Given the description of an element on the screen output the (x, y) to click on. 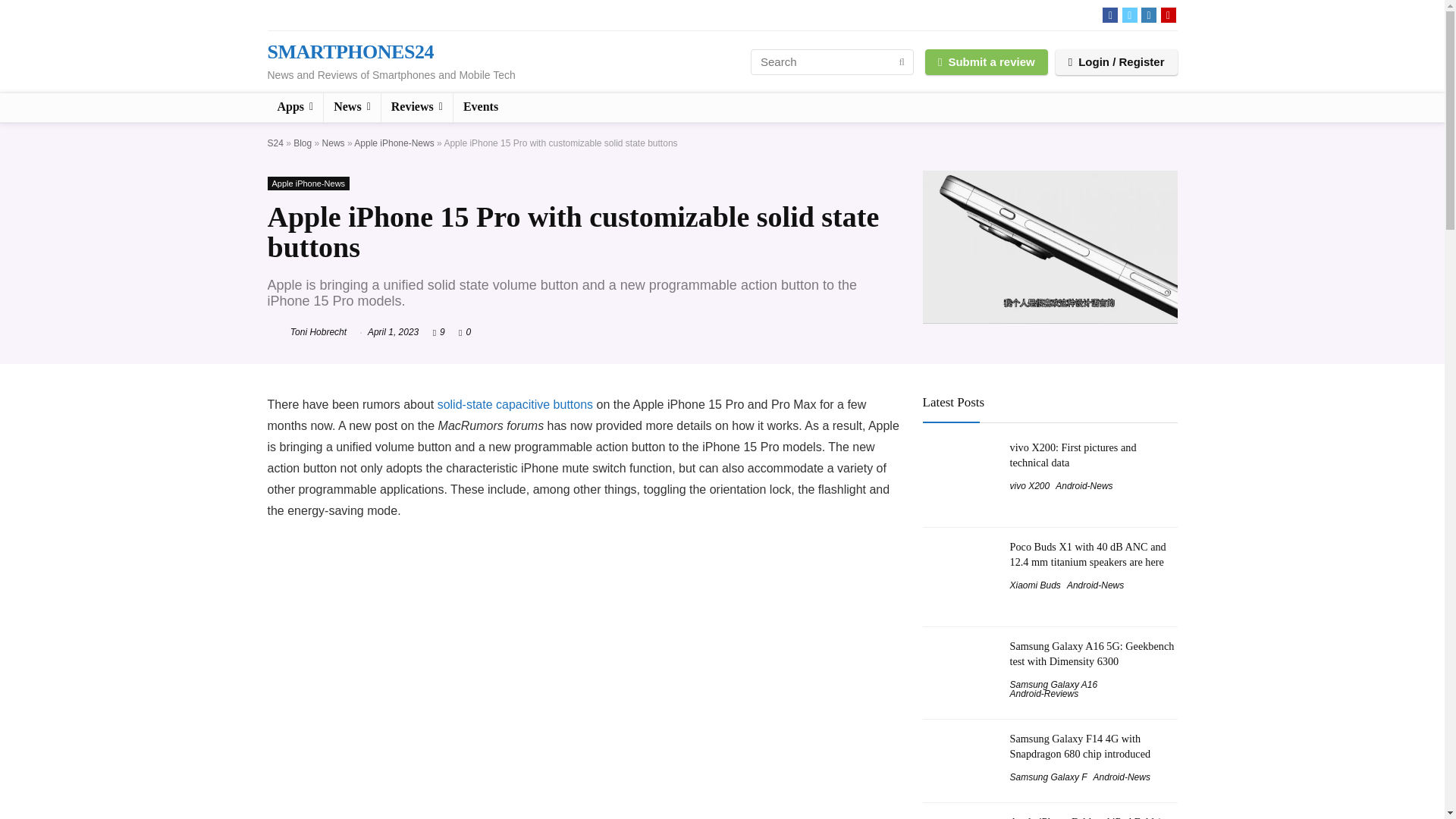
News (351, 107)
solid-state capacitive buttons (515, 404)
Facebook (1110, 14)
Youtube (1167, 14)
Apple iPhone-News (393, 143)
News (333, 143)
Instagramm (1148, 14)
Submit a review (986, 61)
twitter (1129, 14)
Apple iPhone-News (307, 183)
S24 (274, 143)
SMARTPHONES24 (349, 51)
Apps (294, 107)
Blog (302, 143)
Toni Hobrecht (306, 331)
